Given the description of an element on the screen output the (x, y) to click on. 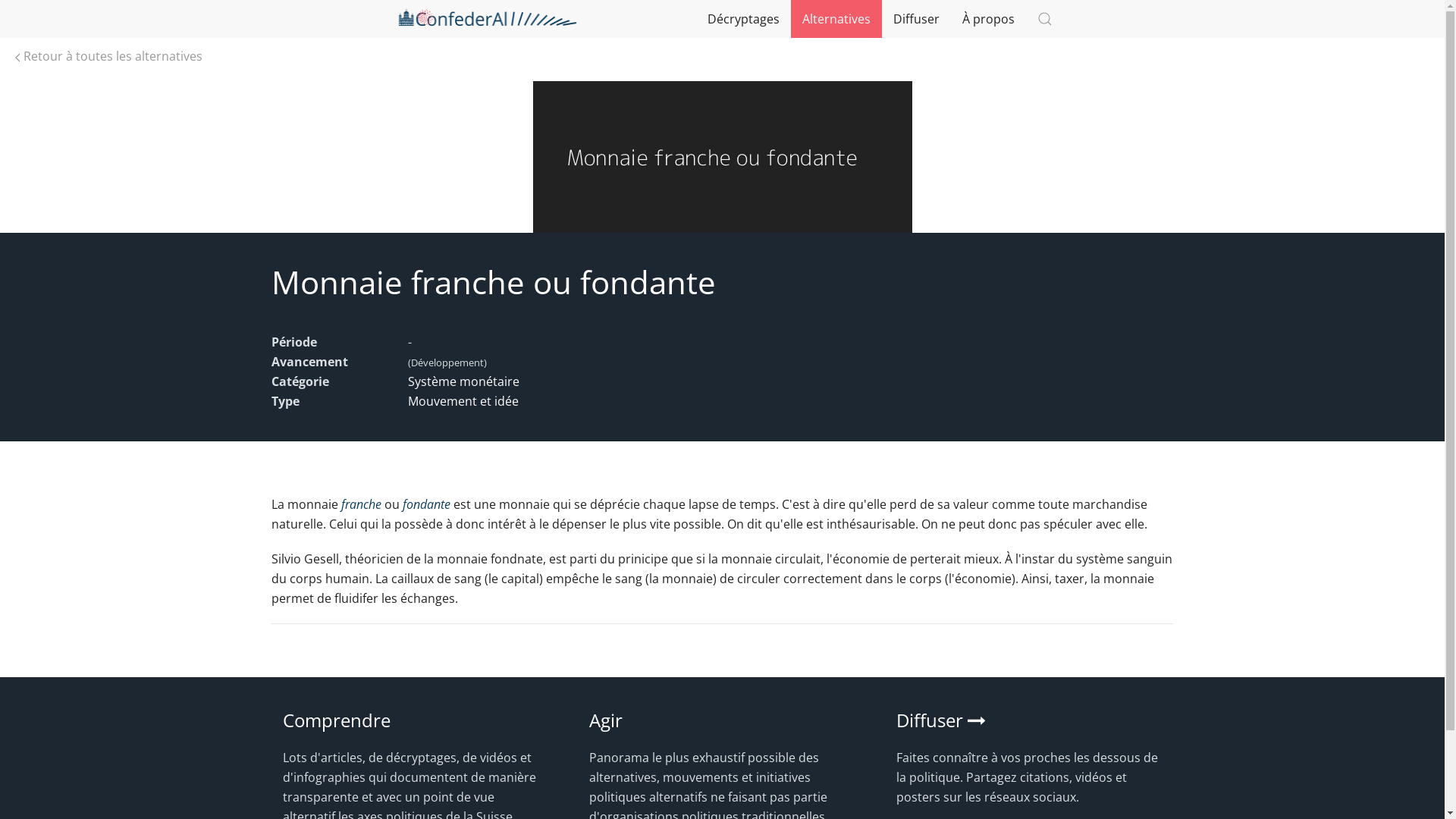
Alternatives Element type: text (835, 18)
Diffuser Element type: text (940, 719)
Agir Element type: text (605, 719)
Comprendre Element type: text (335, 719)
Diffuser Element type: text (915, 18)
